Given the description of an element on the screen output the (x, y) to click on. 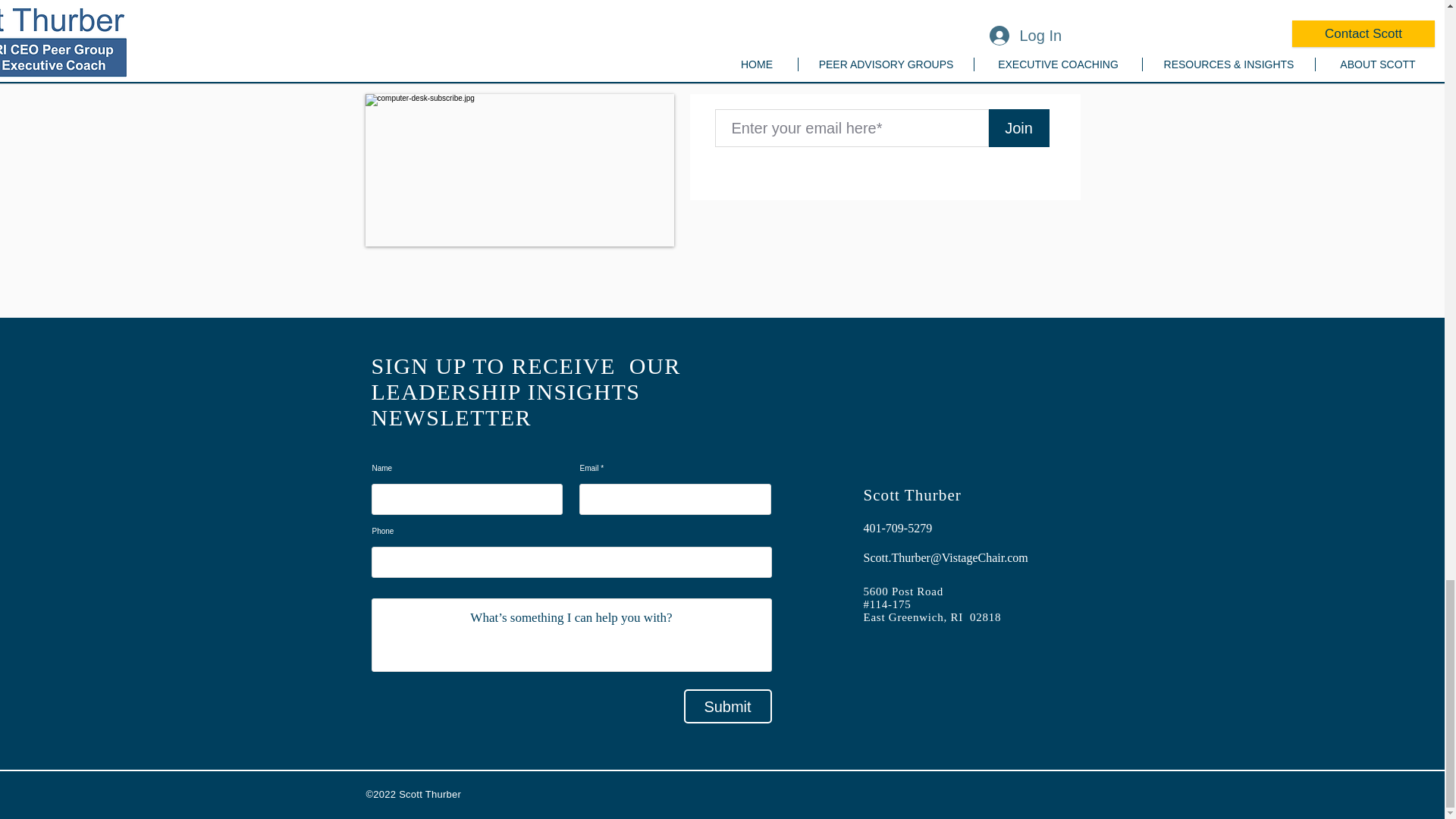
401-709-5279 (924, 528)
Submit (727, 706)
Join (1018, 127)
